Given the description of an element on the screen output the (x, y) to click on. 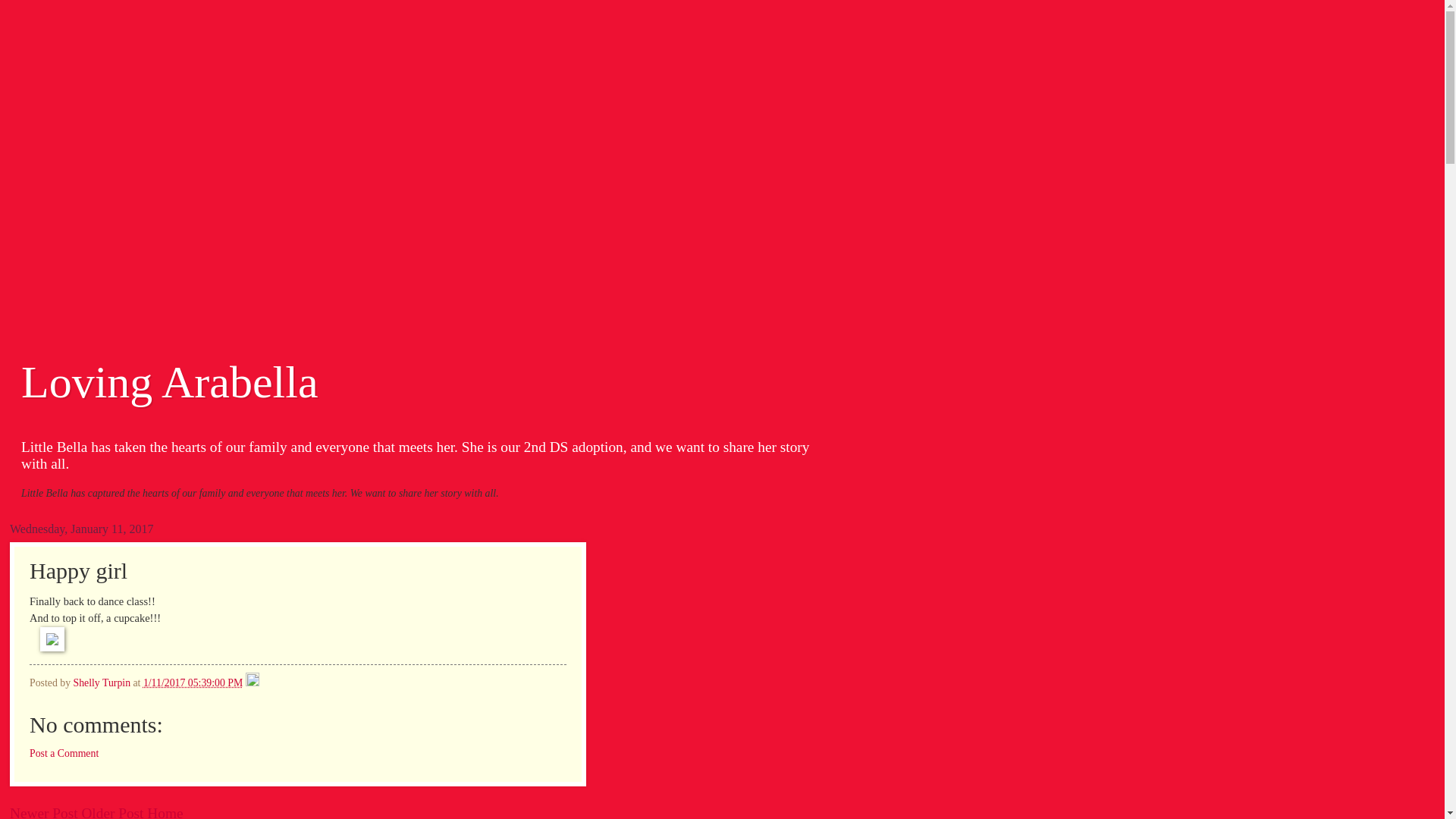
Edit Post Element type: hover (252, 682)
Loving Arabella Element type: text (169, 382)
1/11/2017 05:39:00 PM Element type: text (192, 682)
Shelly Turpin Element type: text (102, 682)
Post a Comment Element type: text (63, 753)
